Given the description of an element on the screen output the (x, y) to click on. 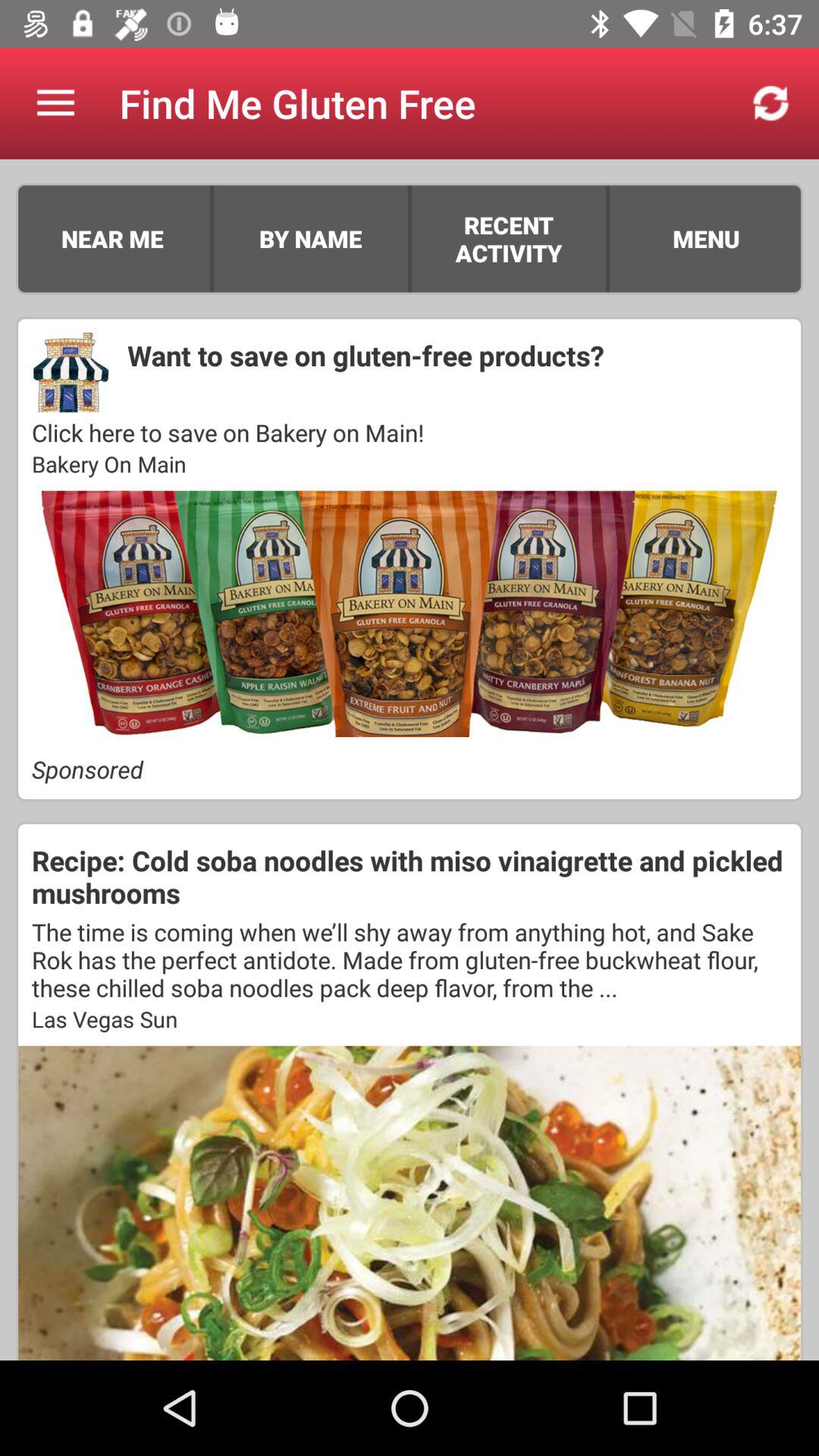
tap item next to the recent activity icon (607, 238)
